Given the description of an element on the screen output the (x, y) to click on. 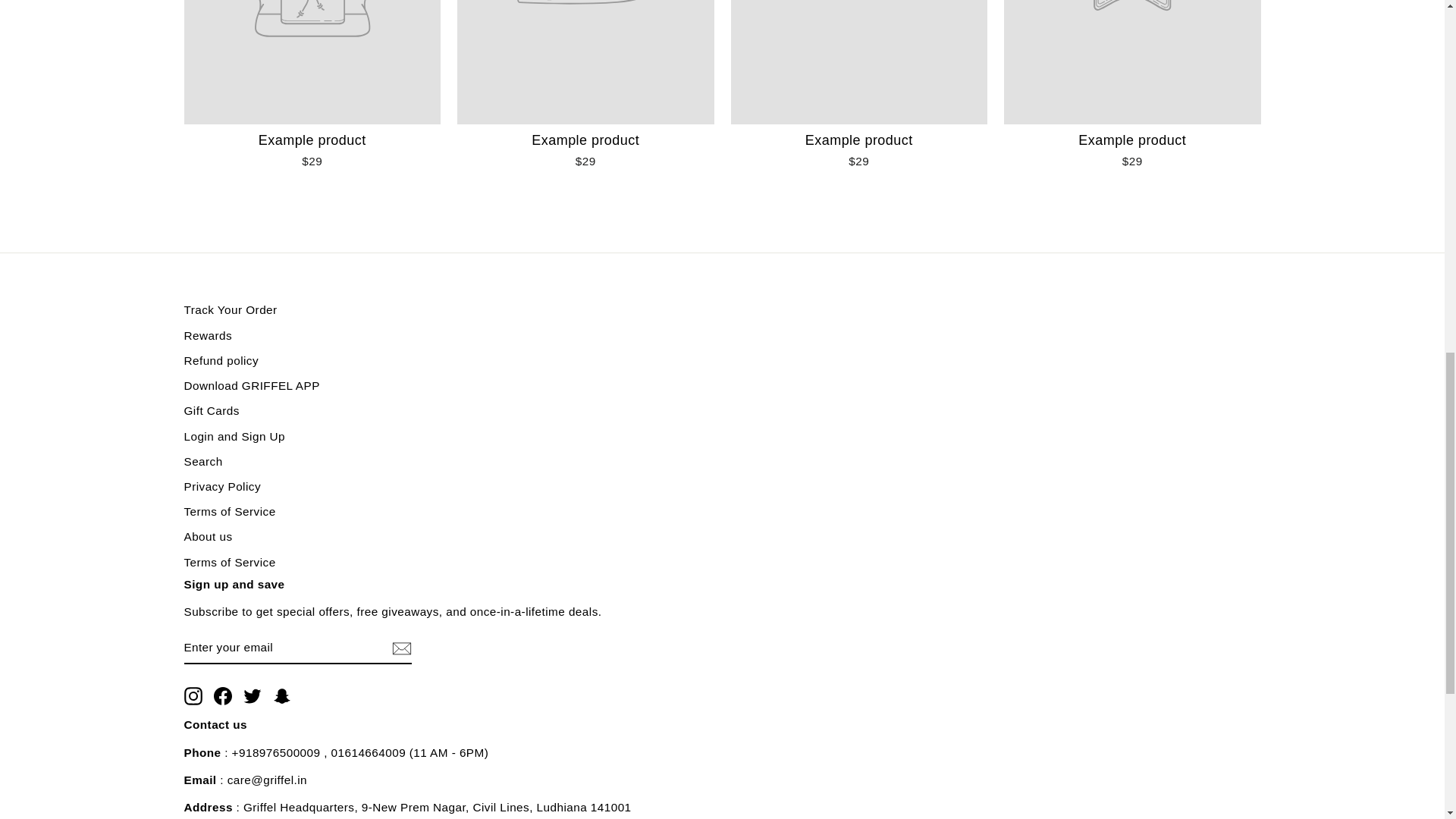
griffel on Facebook (222, 696)
instagram (192, 696)
twitter (251, 696)
icon-email (400, 648)
griffel on Twitter (251, 696)
griffel on Instagram (192, 696)
griffel on Snapchat (282, 696)
